Given the description of an element on the screen output the (x, y) to click on. 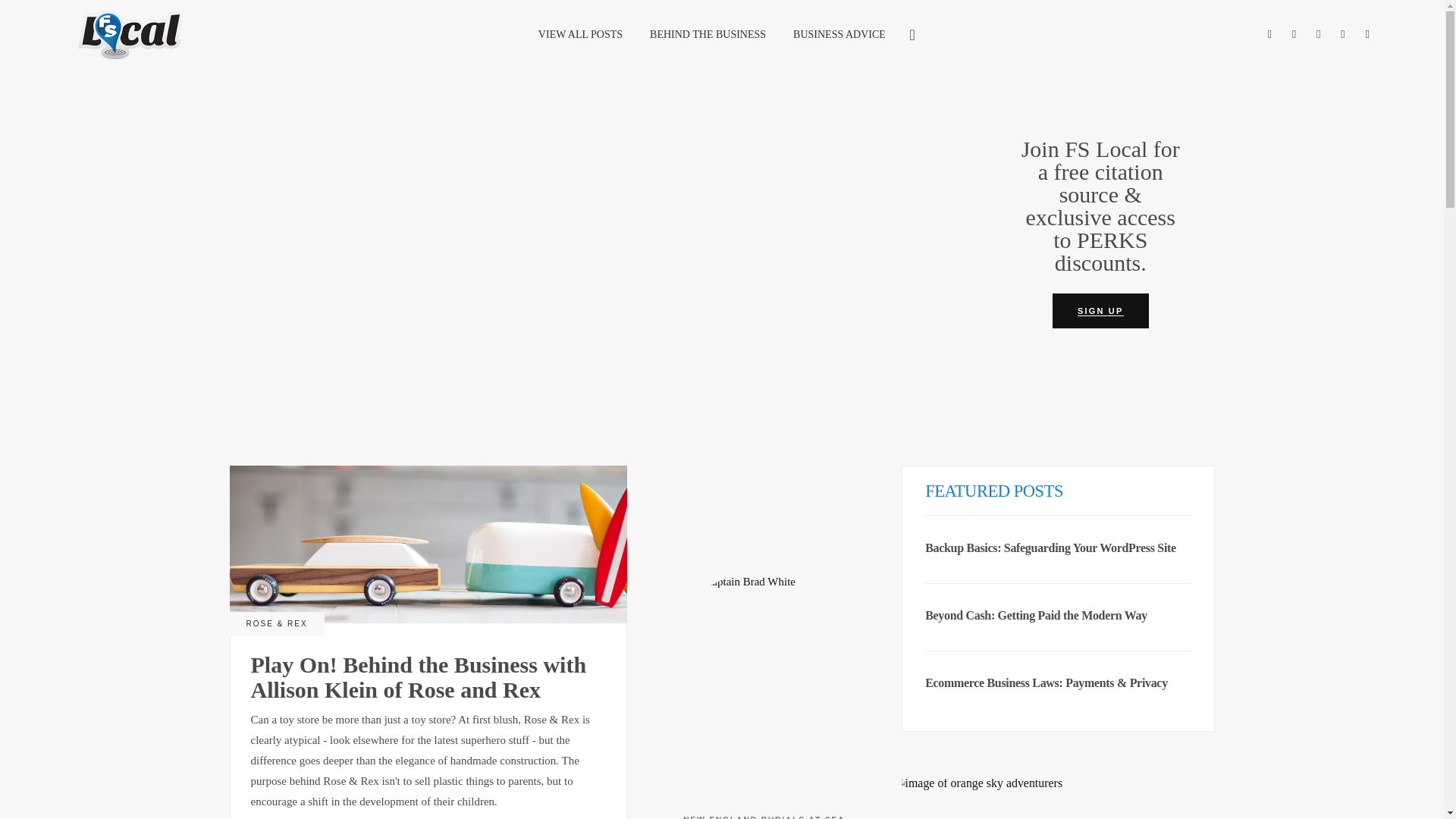
BEHIND THE BUSINESS (707, 33)
View All FS Local Blog Posts (580, 33)
VIEW ALL POSTS (580, 33)
BUSINESS ADVICE (838, 33)
